Given the description of an element on the screen output the (x, y) to click on. 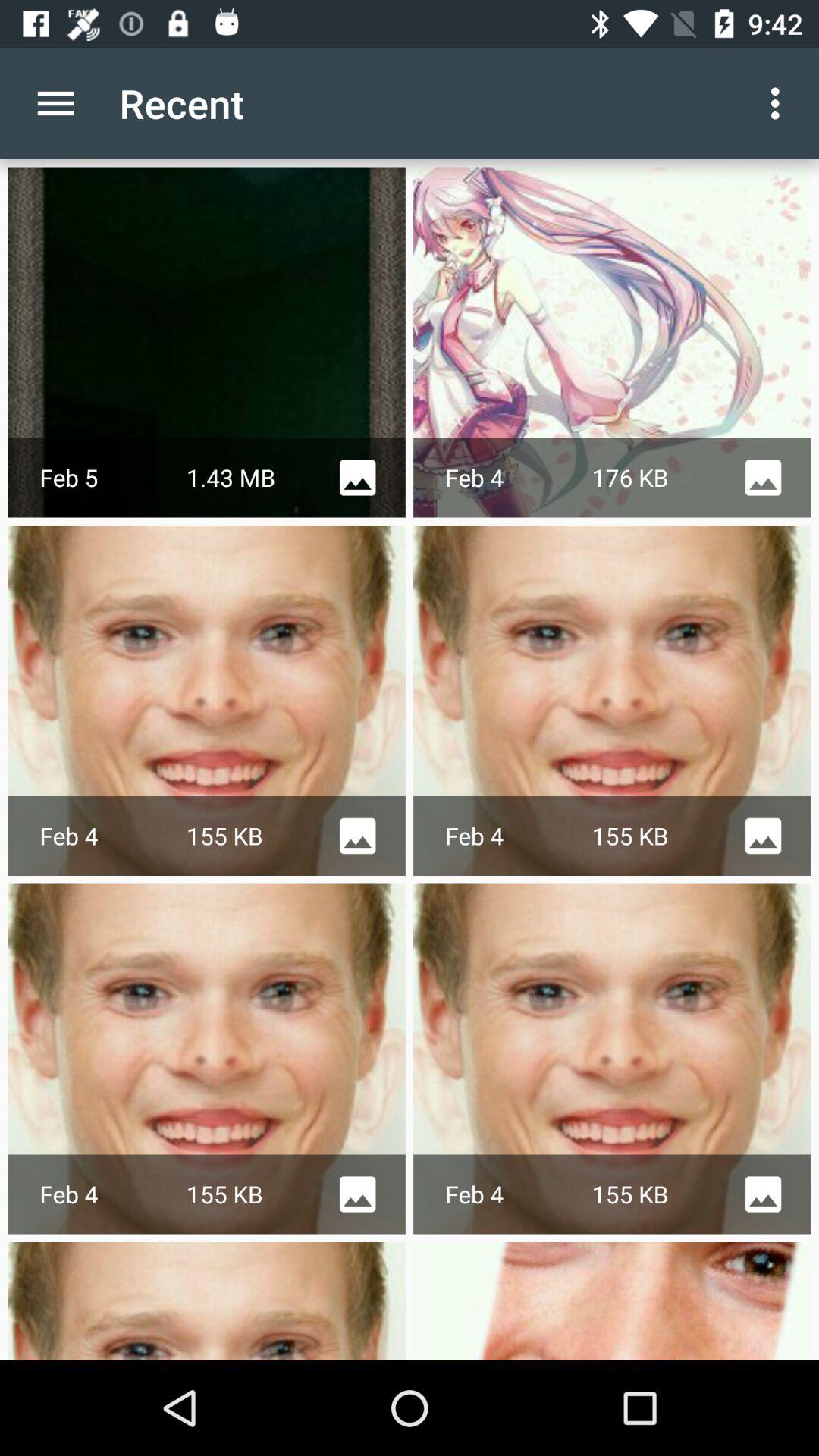
open the icon to the right of the recent item (779, 103)
